Given the description of an element on the screen output the (x, y) to click on. 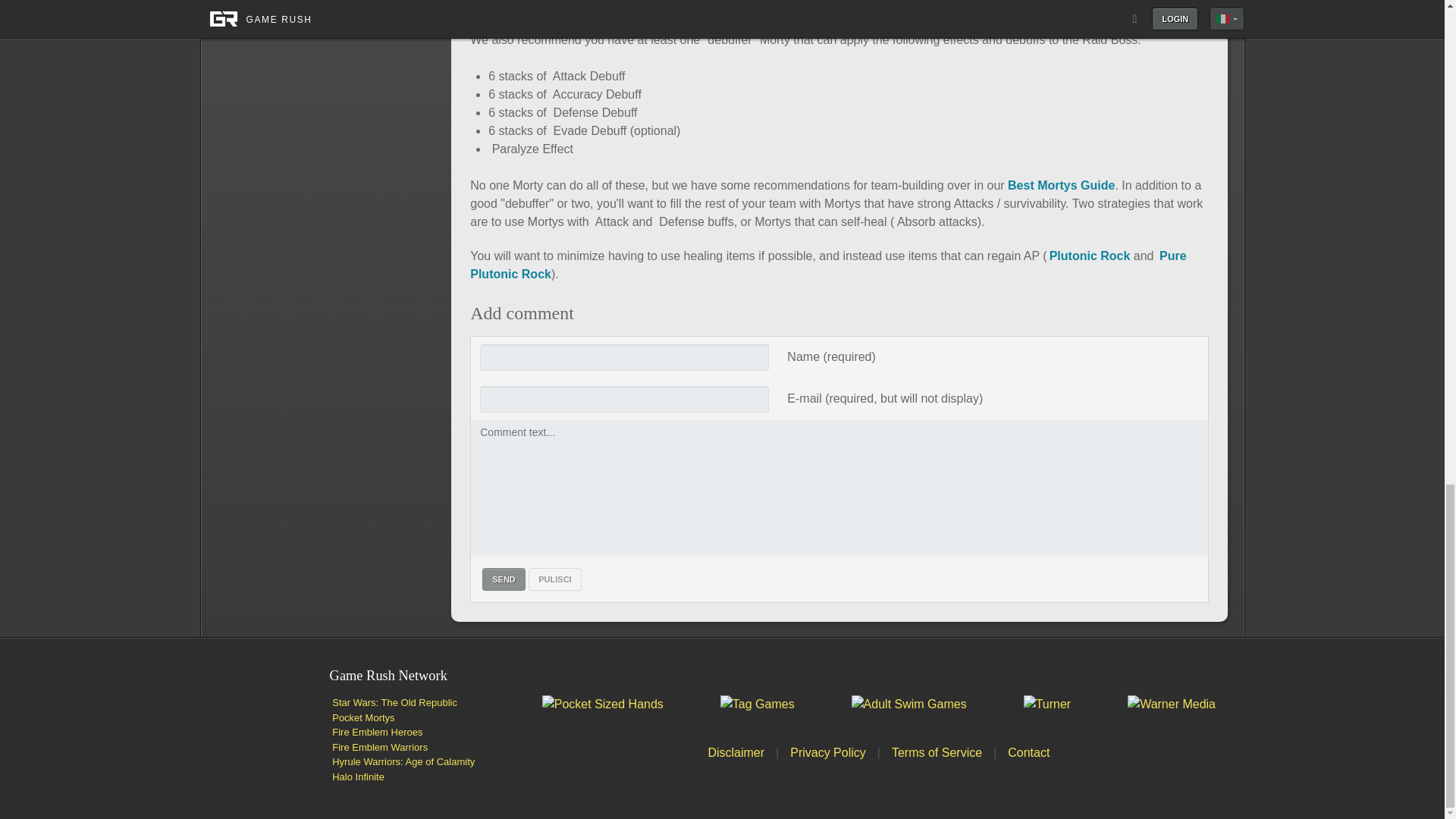
Pulisci (554, 579)
